Given the description of an element on the screen output the (x, y) to click on. 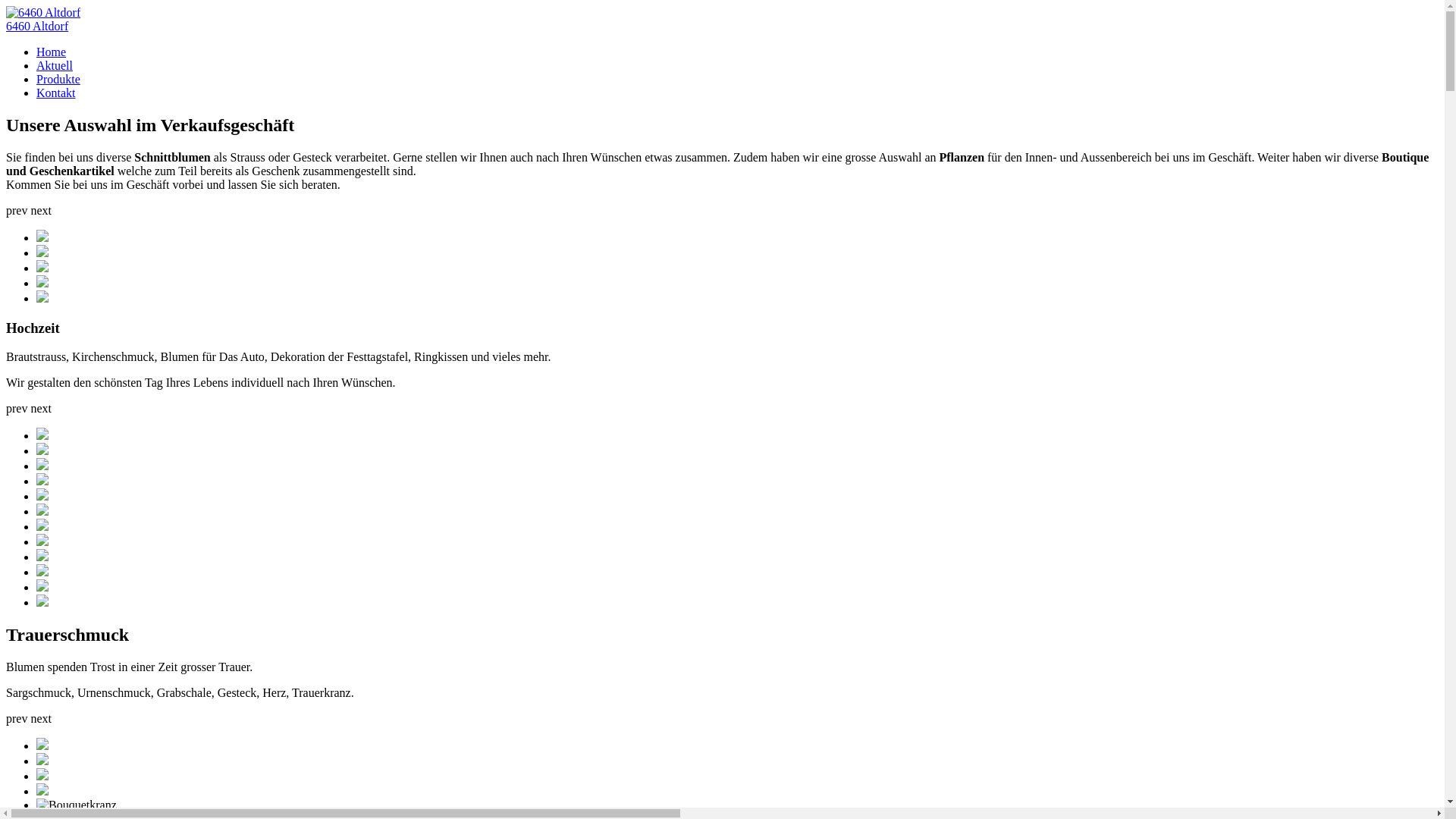
Home Element type: text (50, 51)
Aktuell Element type: text (54, 65)
Kontakt Element type: text (55, 92)
6460 Altdorf Element type: text (37, 25)
Bouquetkranz Element type: hover (76, 805)
Produkte Element type: text (58, 78)
